Given the description of an element on the screen output the (x, y) to click on. 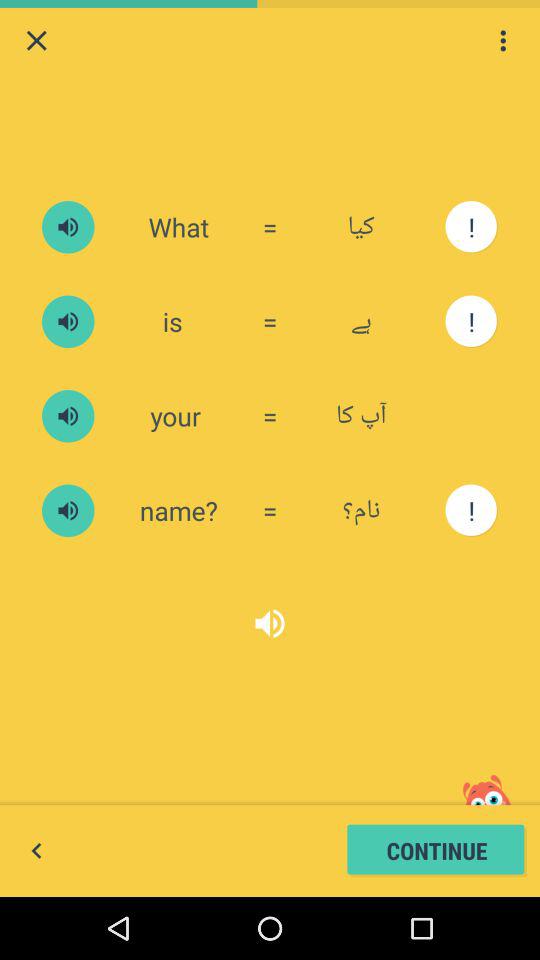
pronounce word audio (68, 227)
